Given the description of an element on the screen output the (x, y) to click on. 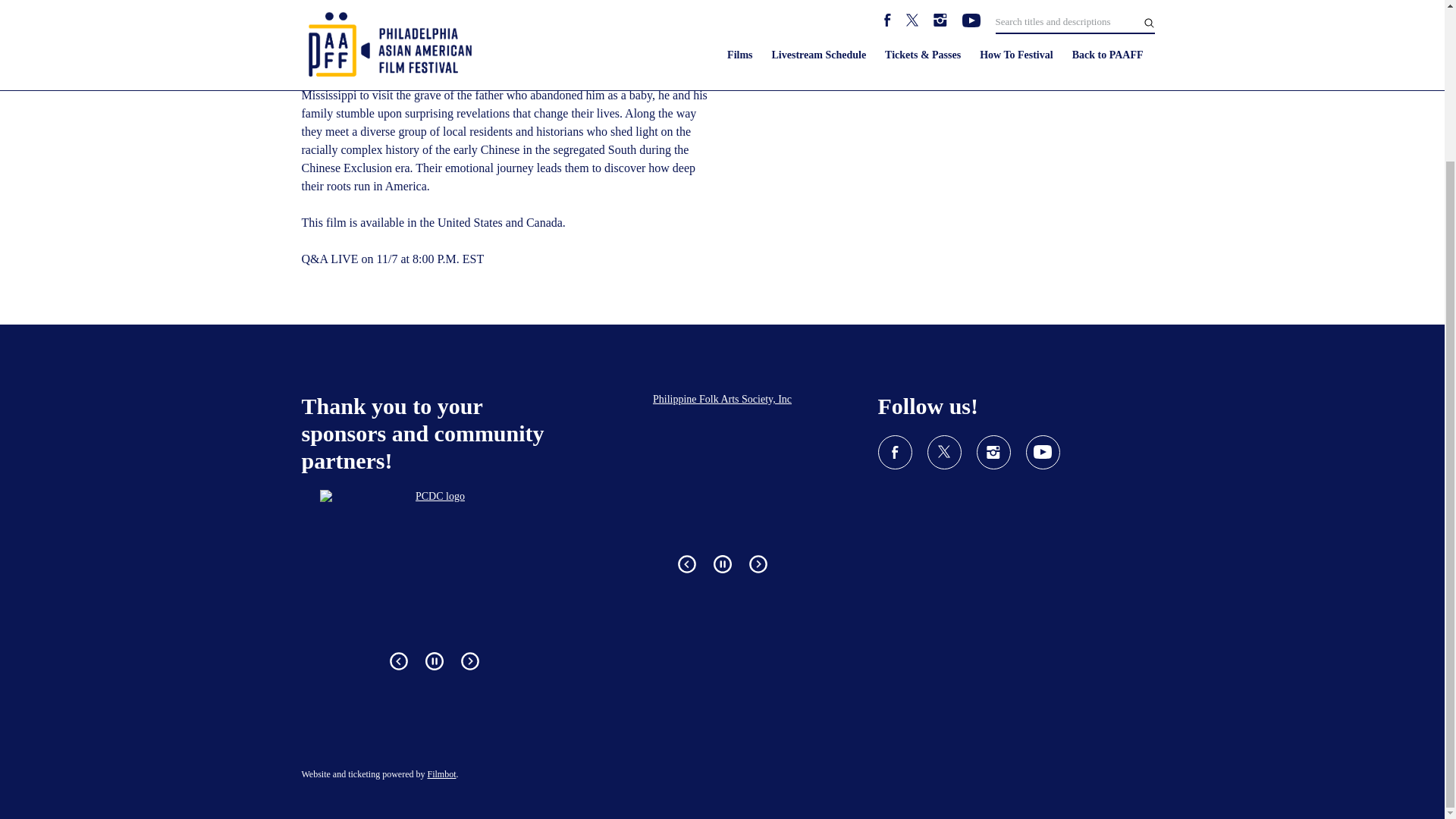
FEATURE DOCUMENTARIES (419, 21)
SPECIAL PRESENTATIONS (566, 21)
DOCUMENTARY (733, 21)
ENGLISH (818, 21)
USA (663, 21)
